Given the description of an element on the screen output the (x, y) to click on. 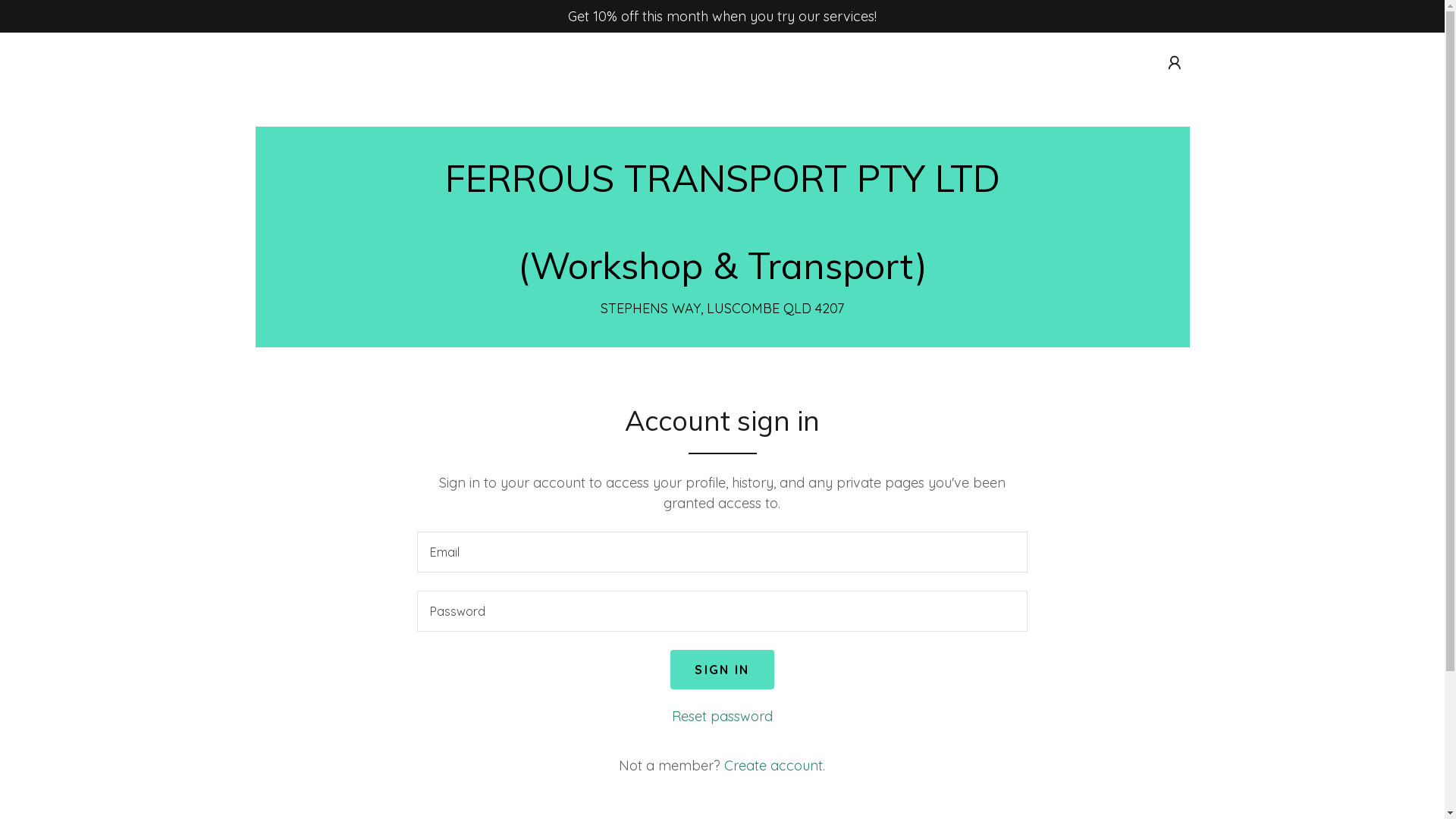
SIGN IN Element type: text (721, 669)
Reset password Element type: text (721, 715)
Create account. Element type: text (774, 765)
FERROUS TRANSPORT PTY LTD

(Workshop & Transport) Element type: text (721, 222)
